Given the description of an element on the screen output the (x, y) to click on. 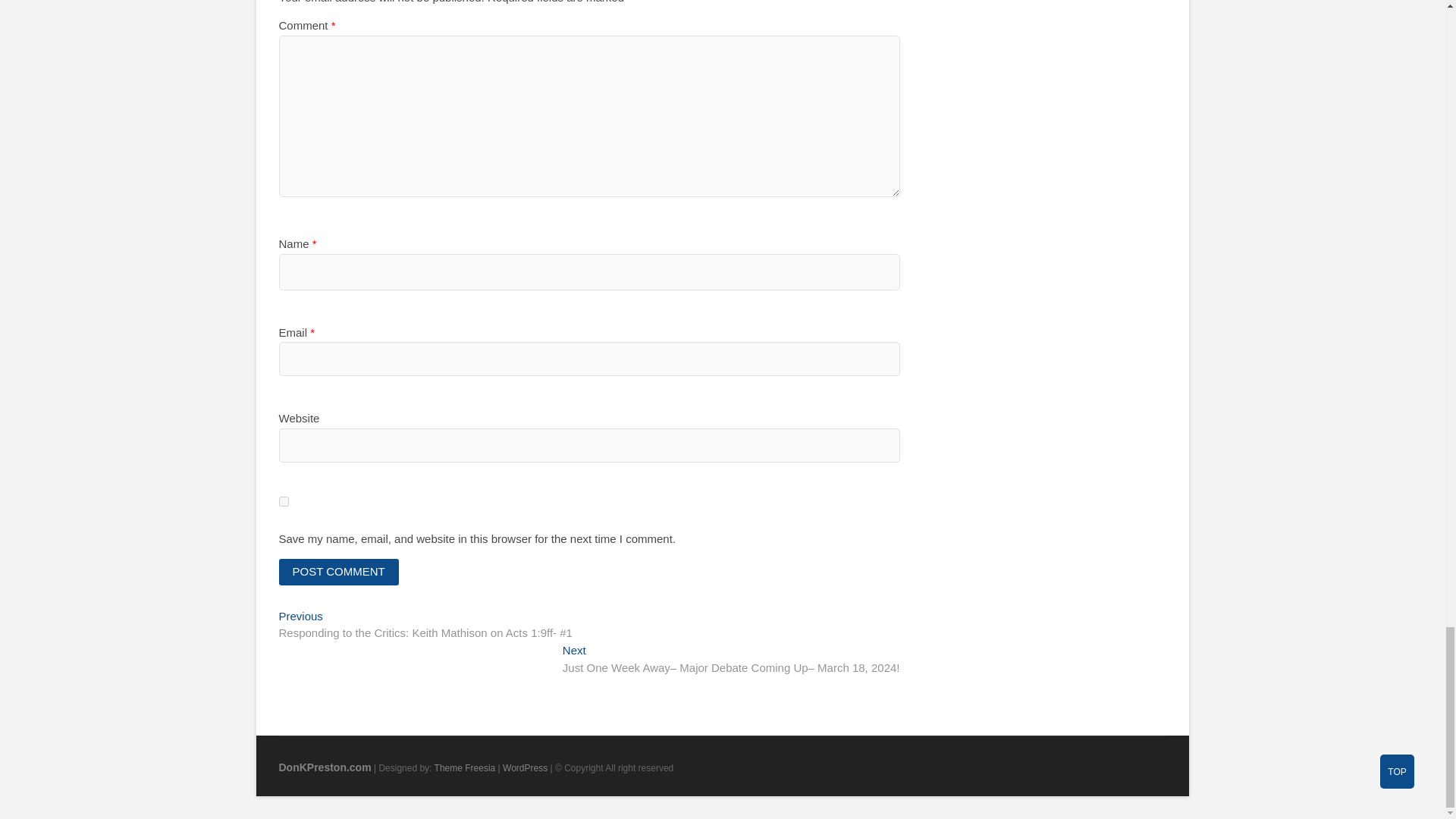
Theme Freesia (464, 767)
WordPress (524, 767)
yes (283, 501)
Post Comment (338, 571)
DonKPreston.com (325, 767)
Post Comment (338, 571)
